Given the description of an element on the screen output the (x, y) to click on. 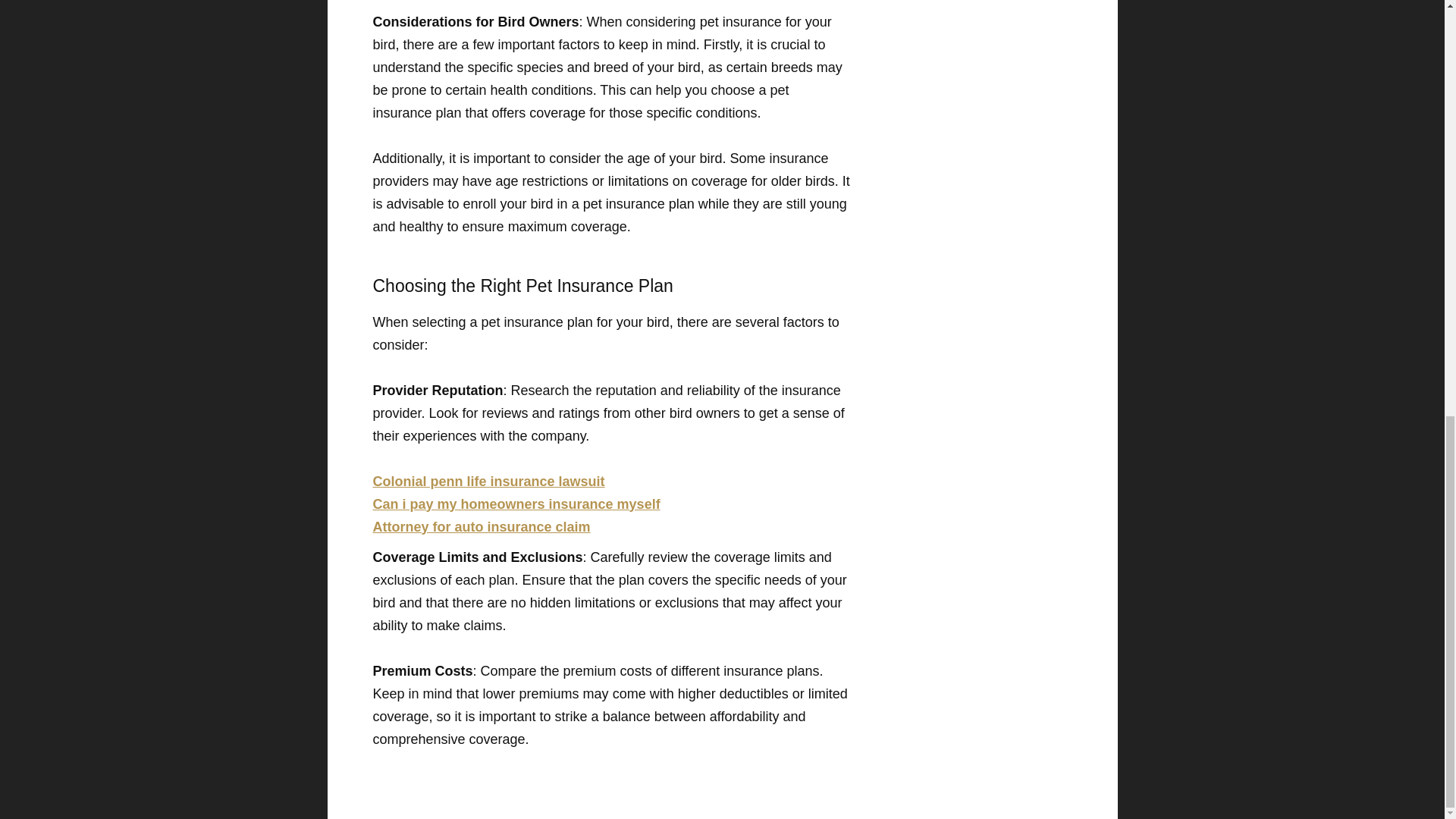
Can i pay my homeowners insurance myself (516, 503)
Colonial penn life insurance lawsuit (488, 481)
Choosing the Right Pet Insurance Plan (611, 285)
Attorney for auto insurance claim (481, 526)
